Given the description of an element on the screen output the (x, y) to click on. 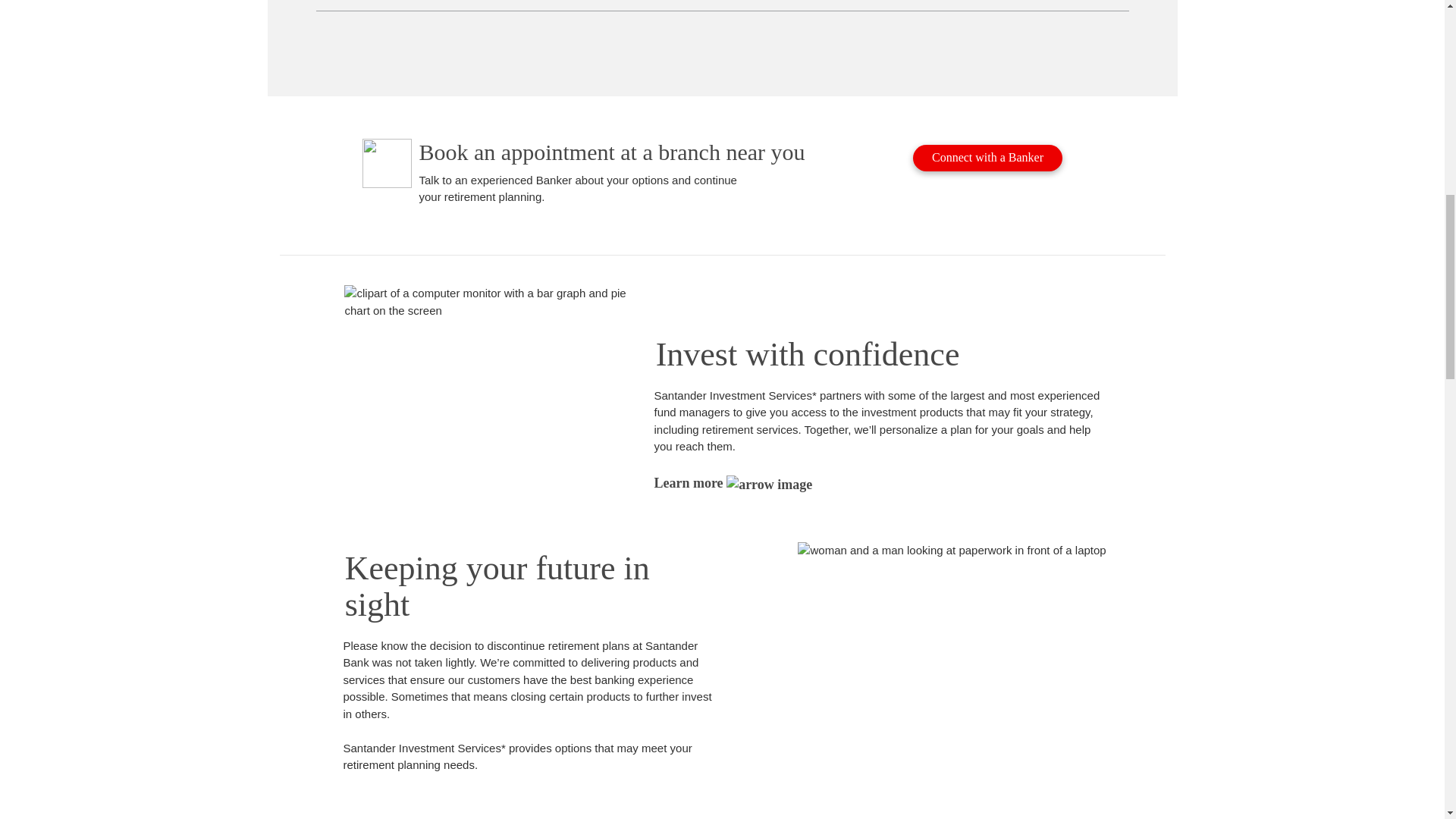
Take a distribution of your retirement account funds (721, 5)
Learn more (732, 482)
Connect with a Banker (987, 157)
